Given the description of an element on the screen output the (x, y) to click on. 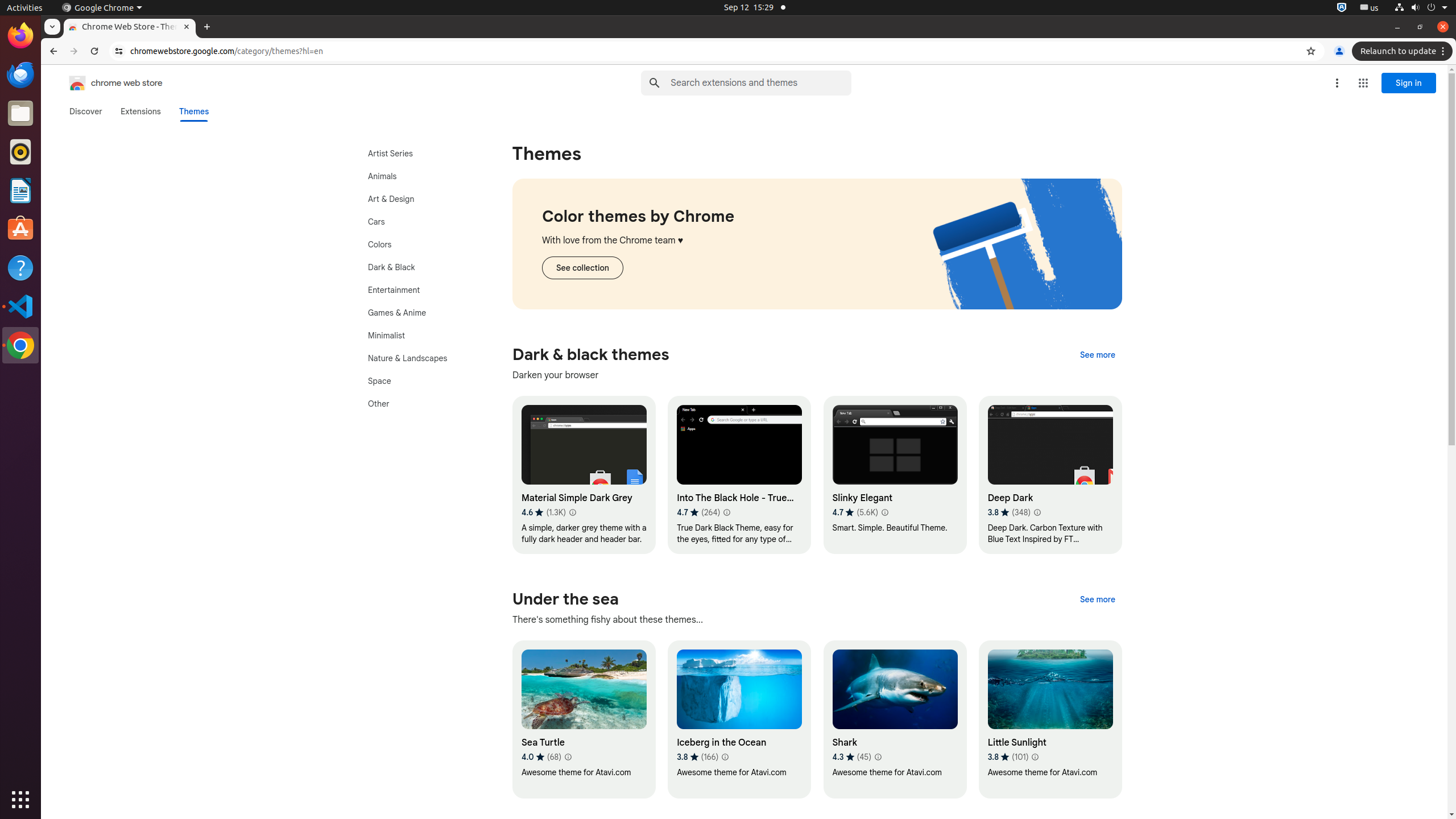
Ubuntu Software Element type: push-button (20, 229)
Firefox Web Browser Element type: push-button (20, 35)
Themes Element type: page-tab (193, 111)
Learn more about results and reviews "Material Simple Dark Grey" Element type: push-button (571, 512)
Into The Black Hole - True Amoled Black Theme Element type: link (739, 474)
